Given the description of an element on the screen output the (x, y) to click on. 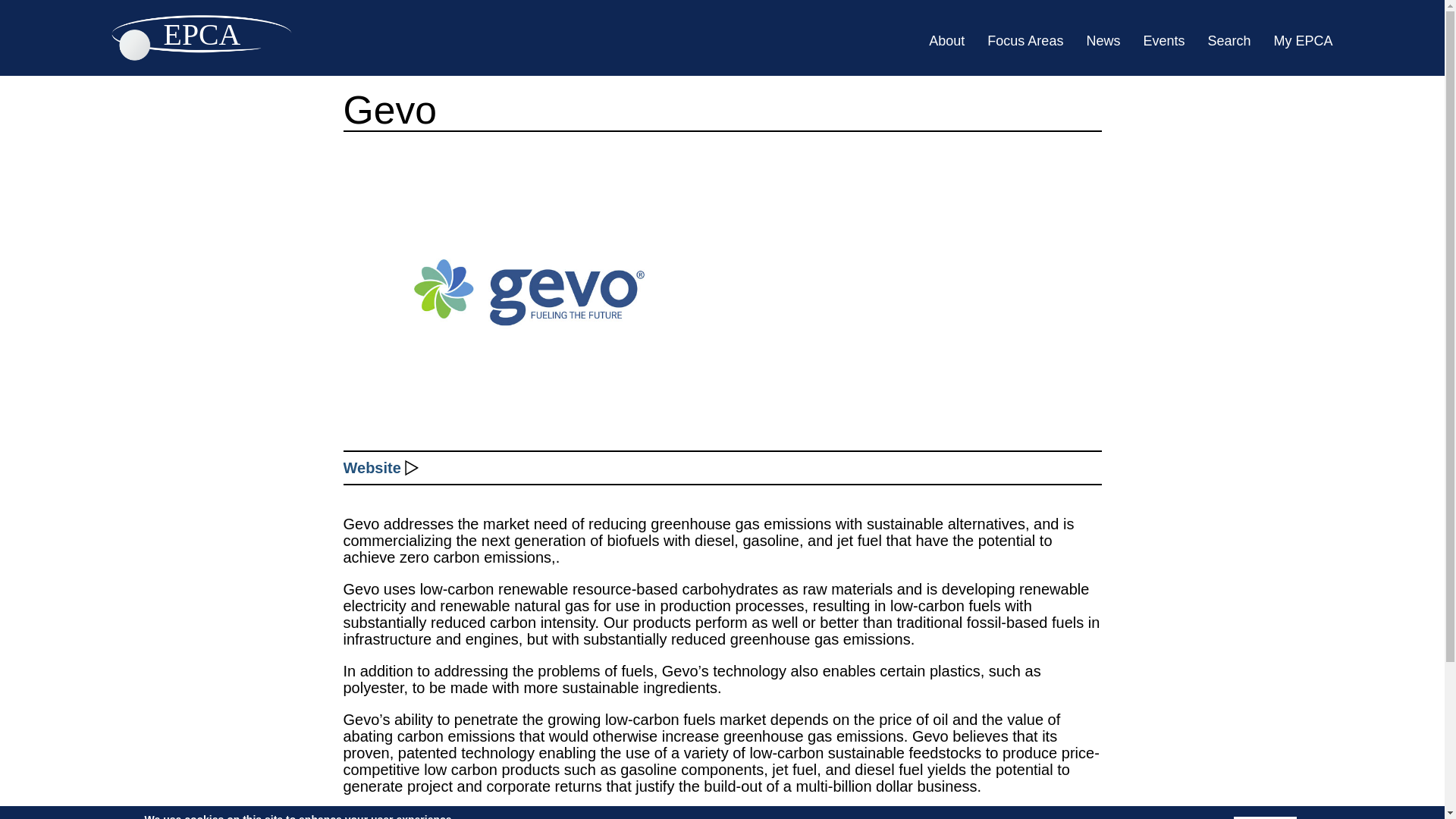
No, thanks (1265, 817)
Accept (1206, 817)
Focus Areas (1024, 40)
News (1102, 40)
My EPCA (1302, 40)
Website (371, 467)
Search (1228, 40)
About (946, 40)
Events (1163, 40)
